Given the description of an element on the screen output the (x, y) to click on. 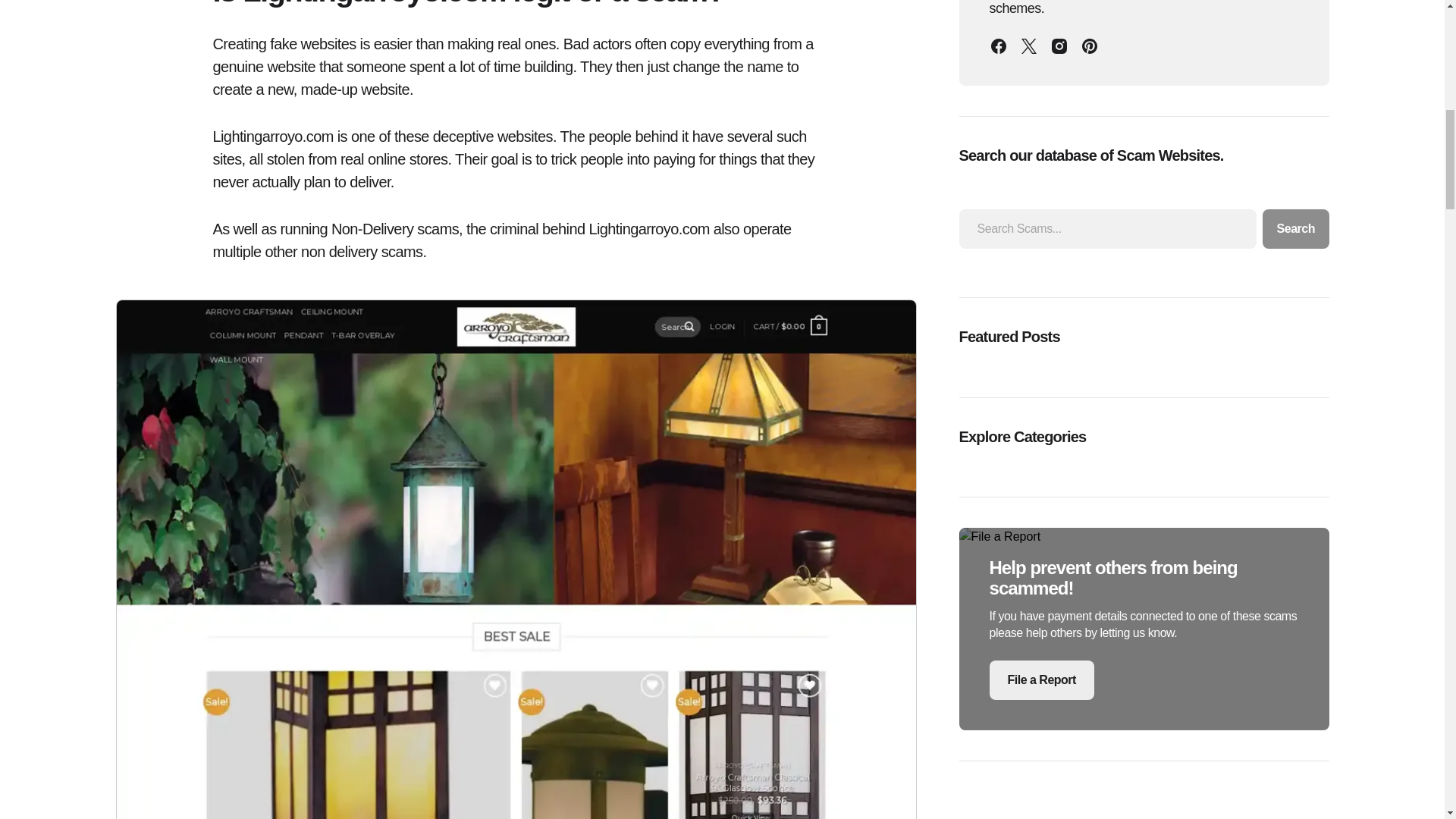
Facebook (997, 46)
Instagram (1058, 46)
Pinterest (1088, 46)
Twitter (1028, 46)
